Given the description of an element on the screen output the (x, y) to click on. 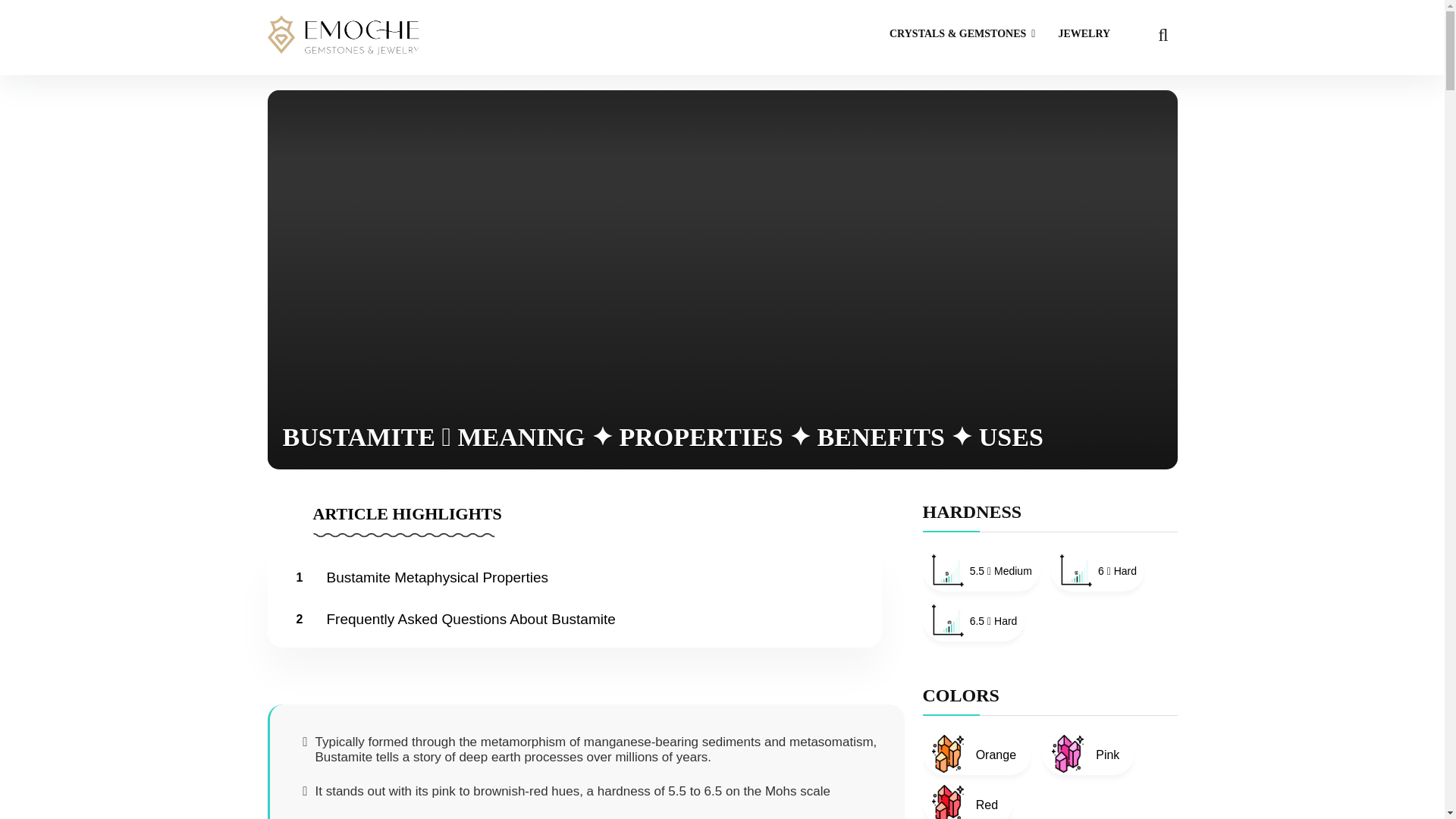
Orange (975, 753)
JEWELRY (1083, 35)
Bustamite Metaphysical Properties (438, 577)
Bustamite Metaphysical Properties (438, 577)
Frequently Asked Questions About Bustamite (472, 618)
Pink (1088, 753)
COLORS (959, 695)
Red (967, 800)
HARDNESS (971, 511)
Frequently Asked Questions About Bustamite (472, 618)
